Given the description of an element on the screen output the (x, y) to click on. 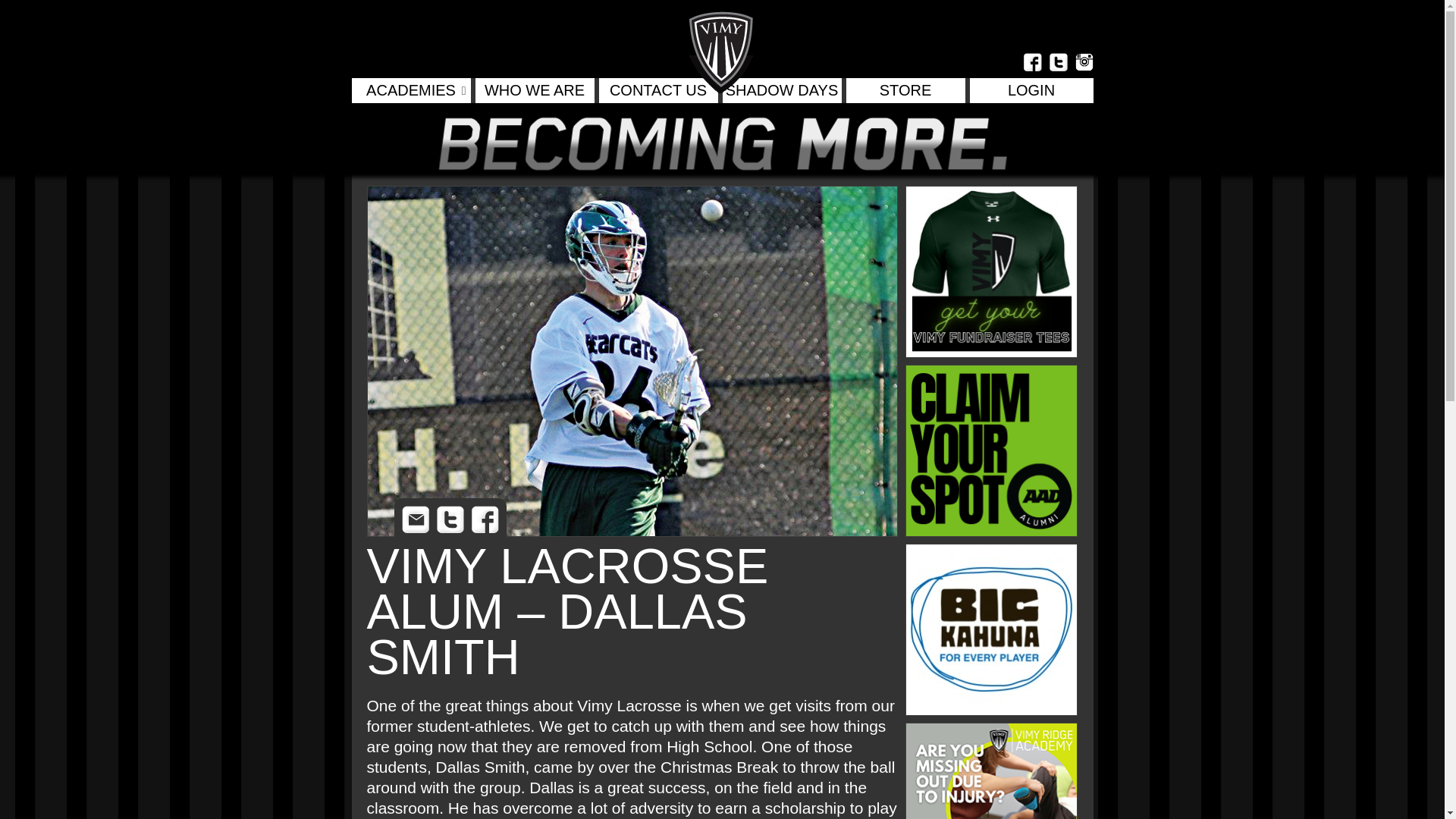
Email (415, 519)
Twitter (450, 519)
ACADEMIES (410, 89)
Facebook (485, 519)
